Given the description of an element on the screen output the (x, y) to click on. 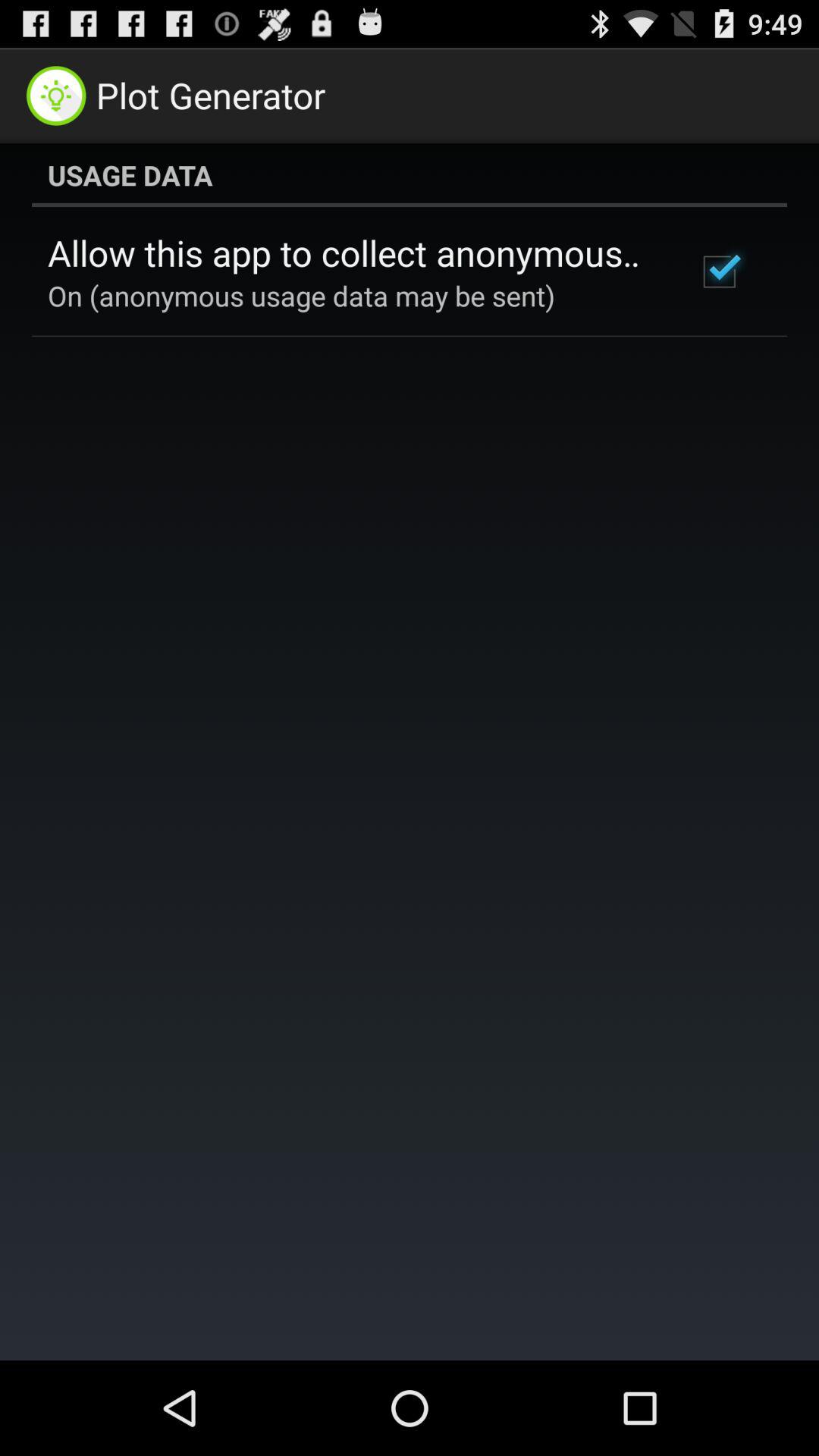
turn off the icon below the usage data (351, 252)
